Given the description of an element on the screen output the (x, y) to click on. 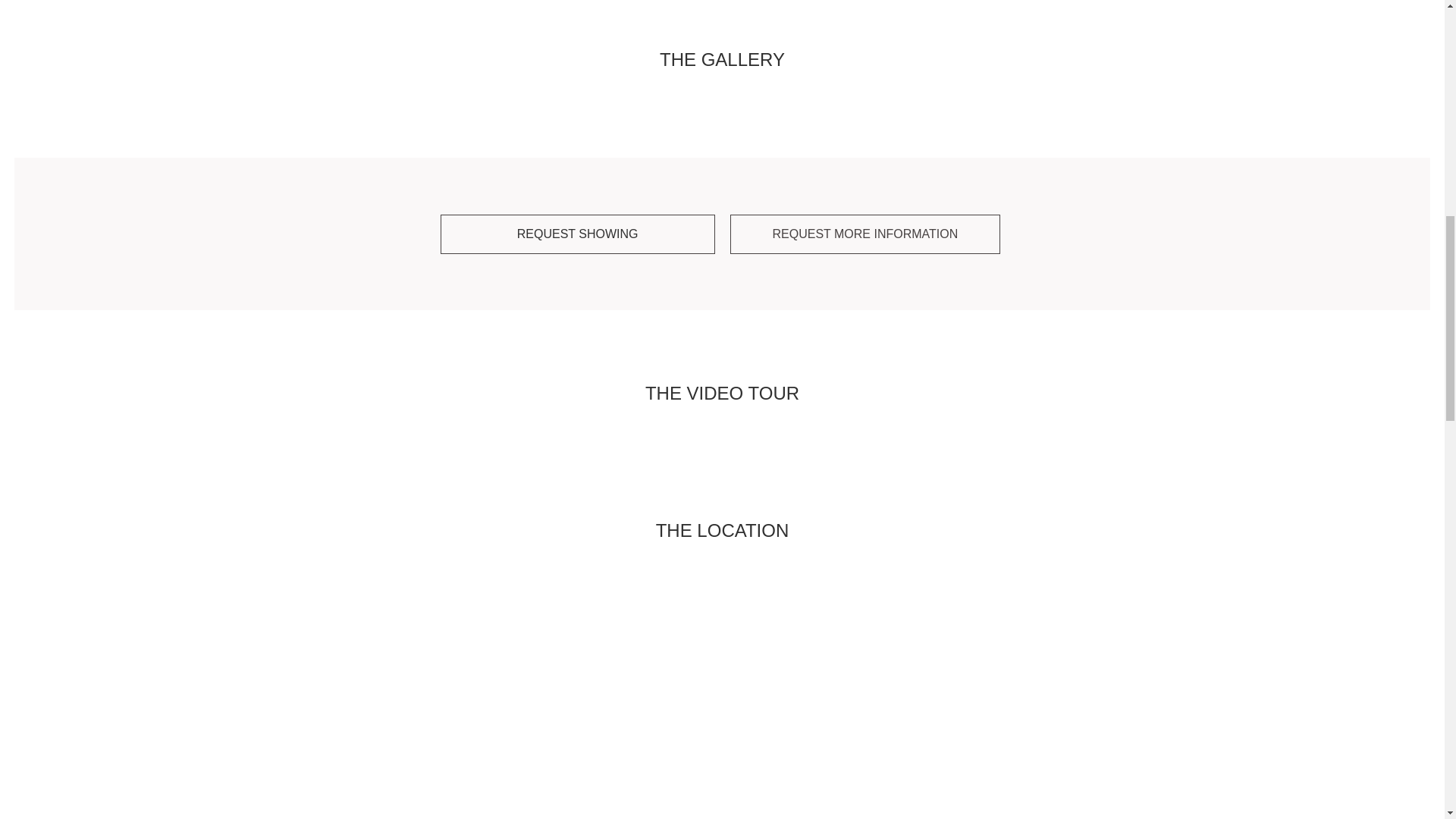
REQUEST SHOWING (577, 233)
REQUEST MORE INFORMATION (864, 233)
